Given the description of an element on the screen output the (x, y) to click on. 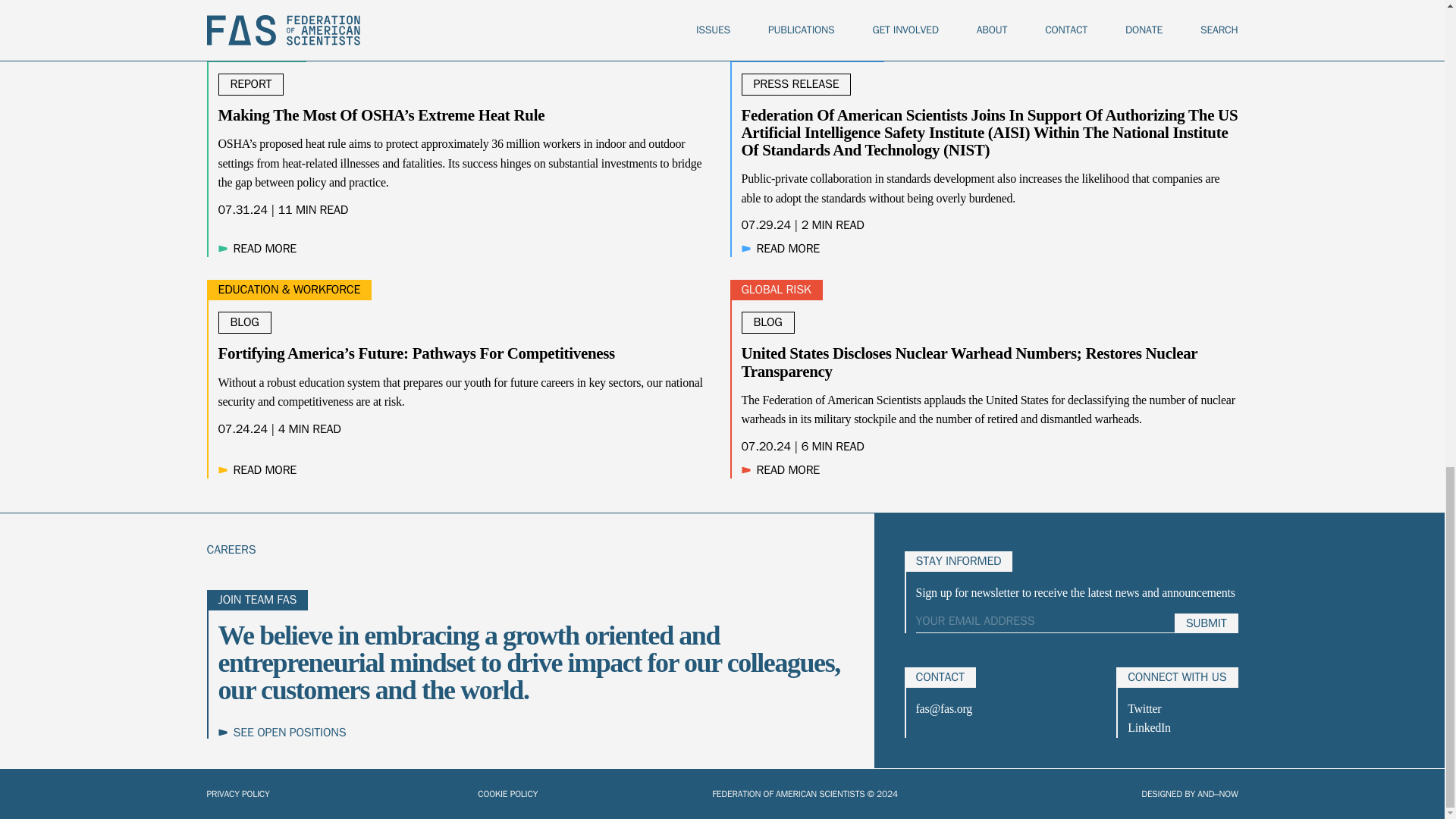
Submit (1206, 623)
